Given the description of an element on the screen output the (x, y) to click on. 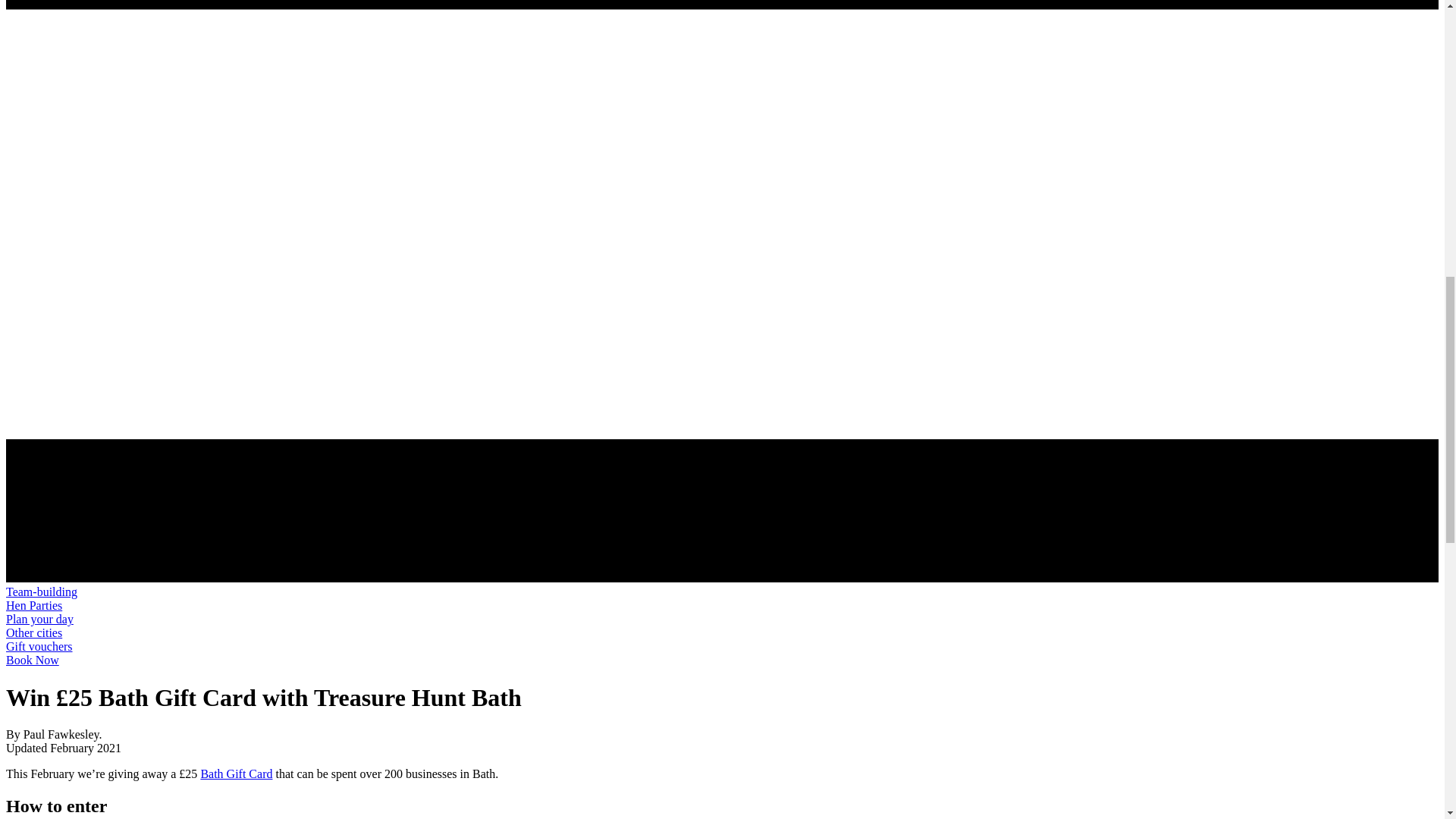
Plan your day (39, 618)
Gift vouchers (38, 645)
Team-building (41, 591)
Book Now (32, 659)
Hen Parties (33, 604)
Other cities (33, 632)
Bath Gift Card (236, 773)
